Given the description of an element on the screen output the (x, y) to click on. 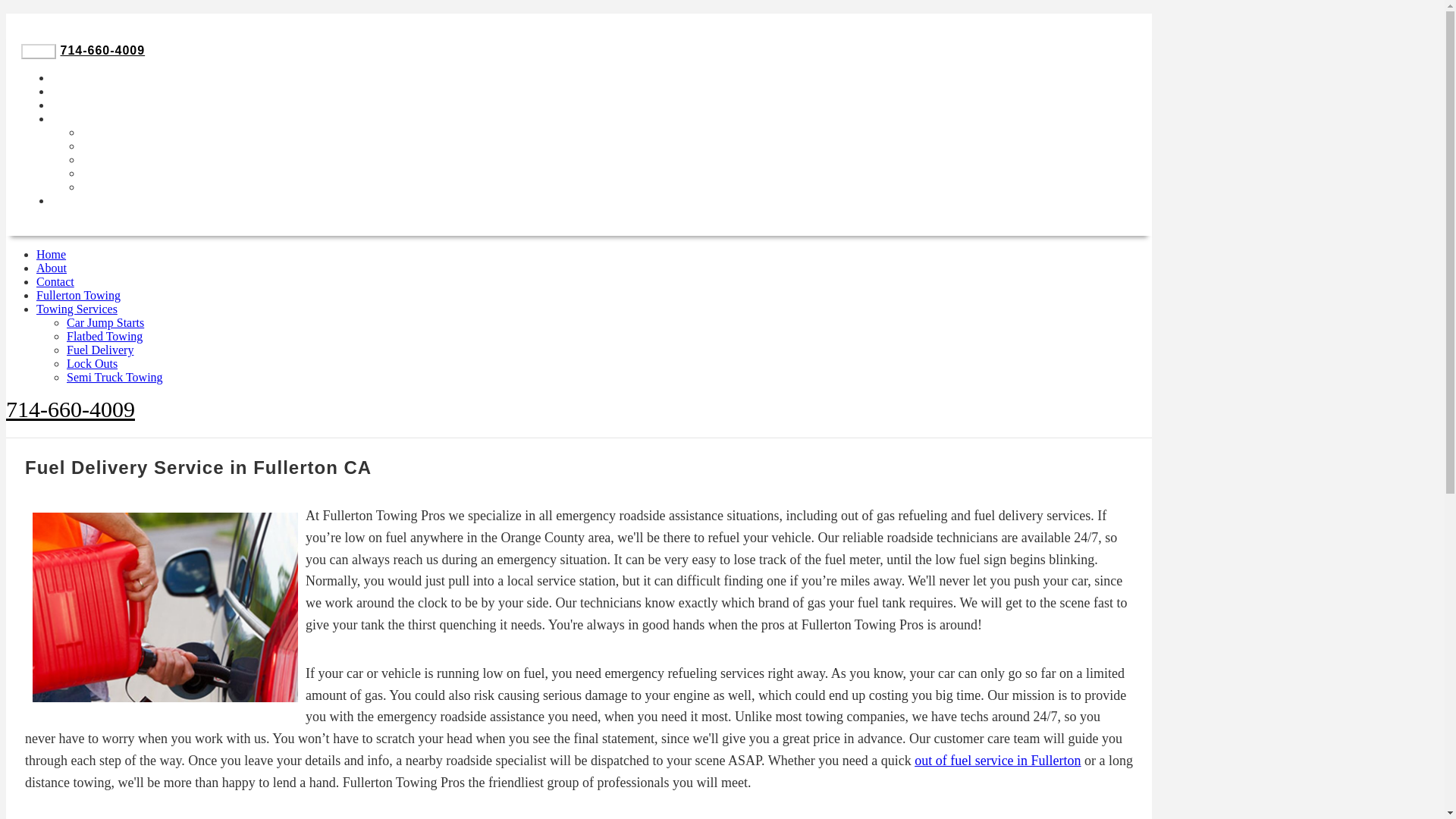
714-660-4009 (70, 408)
SEMI TRUCK TOWING (151, 186)
Fuel Delivery (99, 349)
FUEL DELIVERY (133, 159)
FULLERTON TOWING (118, 104)
FULLERTON TOWING (118, 104)
Lock Outs (91, 363)
Towing Services (76, 308)
CONTACT (82, 200)
TOWING SERVICES (113, 118)
